Given the description of an element on the screen output the (x, y) to click on. 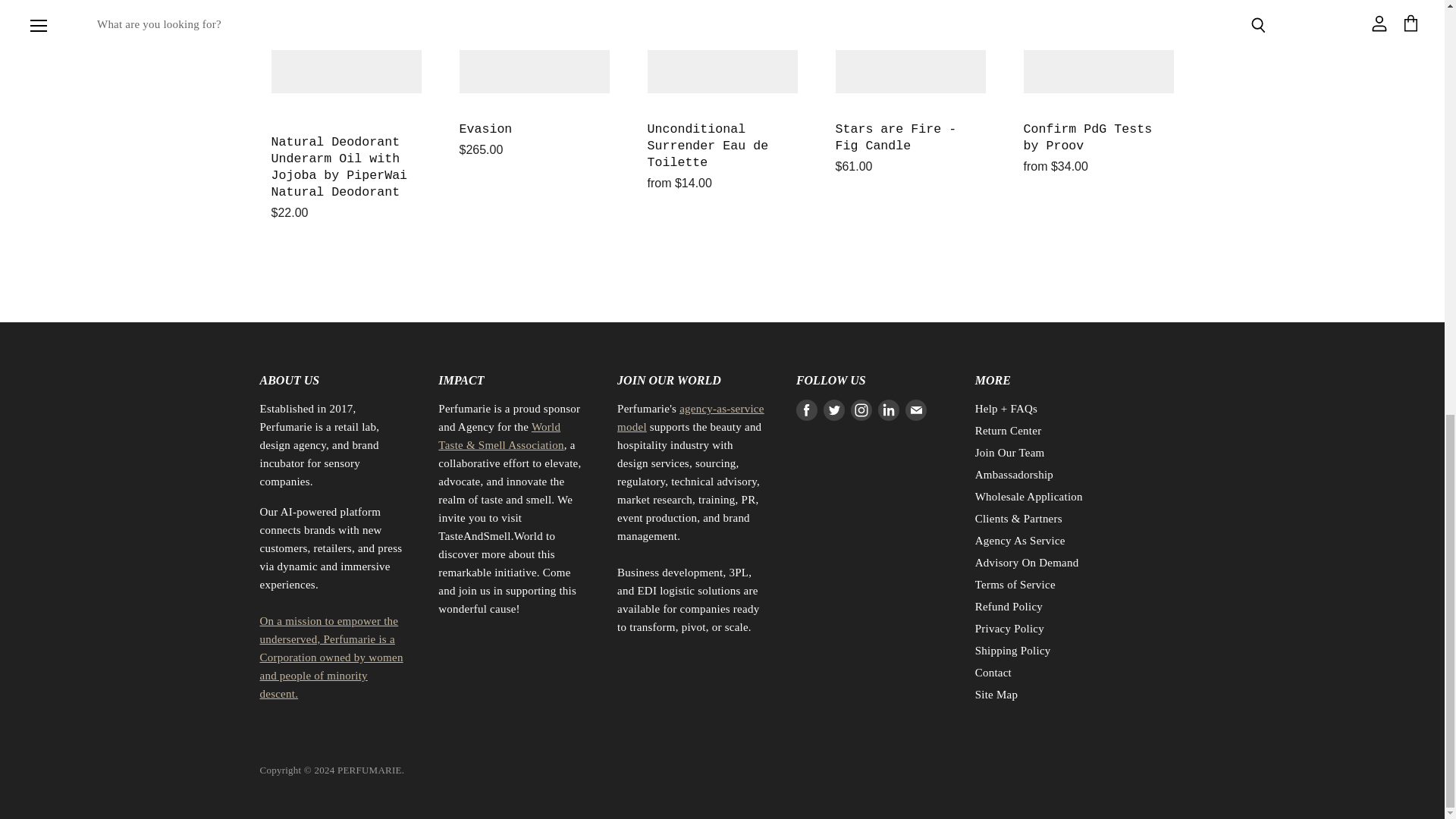
LinkedIn (888, 410)
E-mail (916, 410)
Facebook (807, 410)
Twitter (834, 410)
Instagram (861, 410)
